Given the description of an element on the screen output the (x, y) to click on. 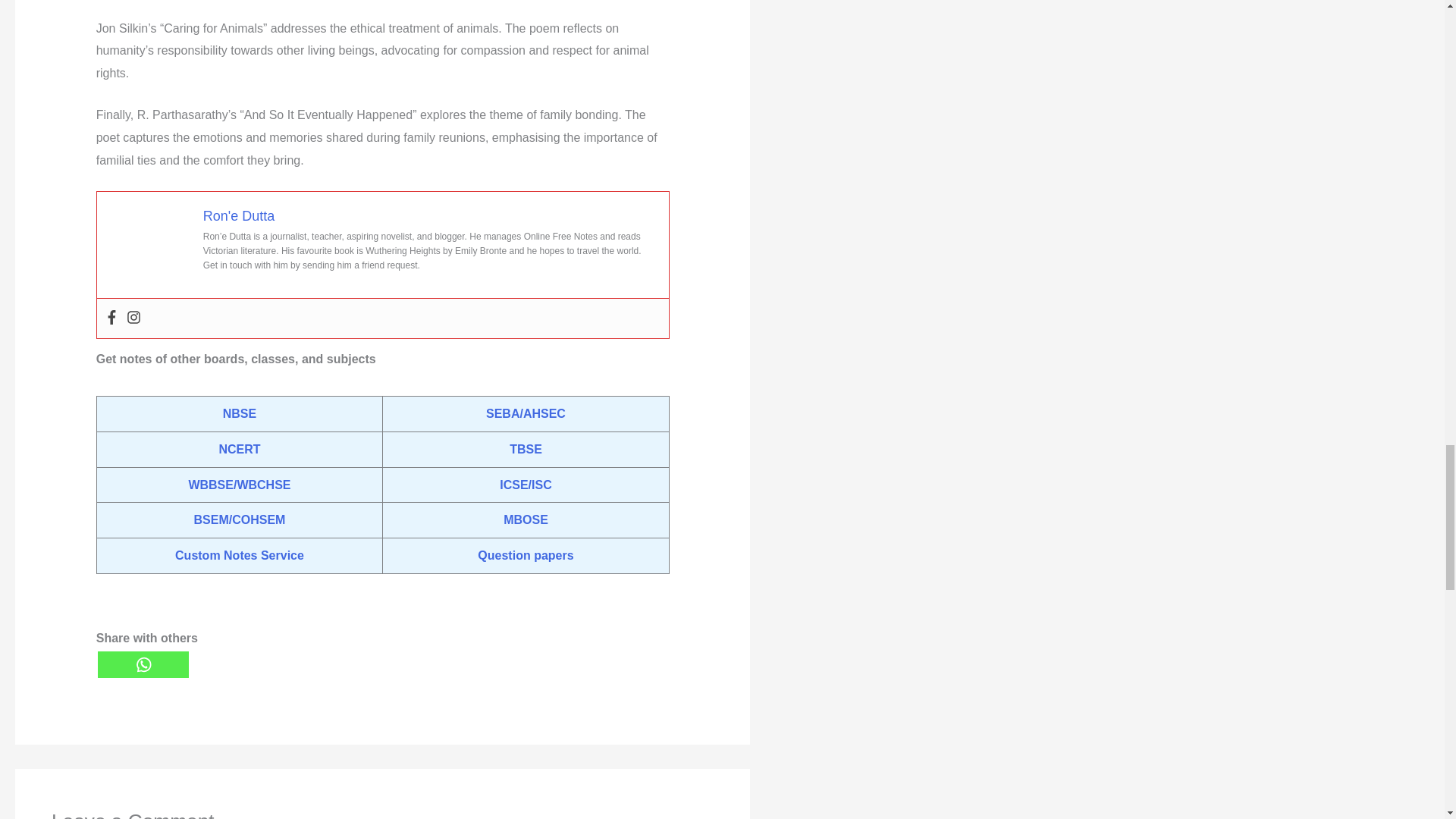
Whatsapp (143, 664)
